Given the description of an element on the screen output the (x, y) to click on. 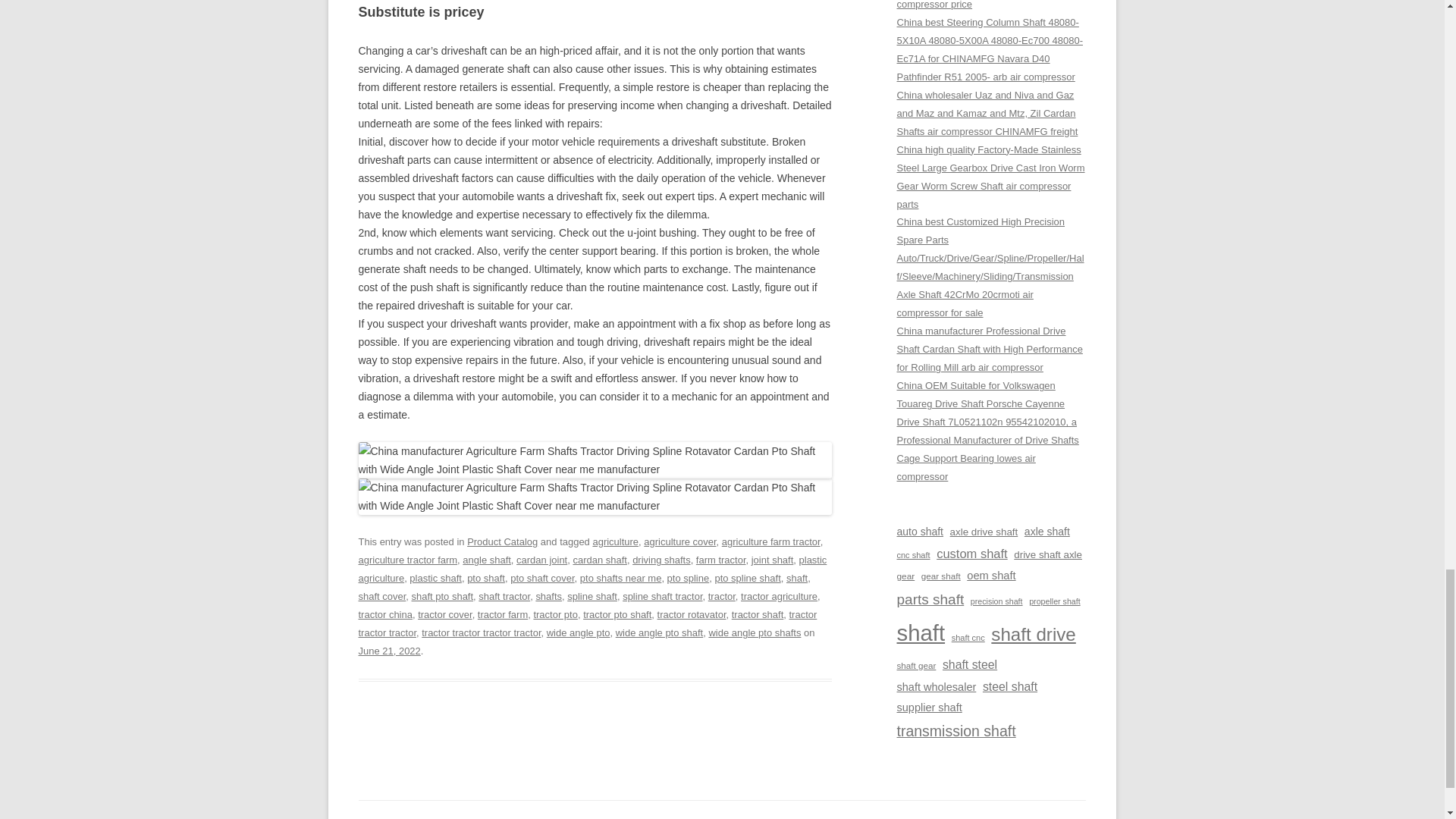
tractor agriculture (778, 595)
agriculture farm tractor (771, 541)
shaft tractor (504, 595)
4:54 am (389, 650)
shaft (797, 577)
tractor farm (502, 614)
tractor (721, 595)
plastic shaft (435, 577)
pto shaft (486, 577)
tractor pto shaft (616, 614)
pto spline shaft (747, 577)
agriculture cover (679, 541)
spline shaft (592, 595)
pto shaft cover (542, 577)
shaft cover (382, 595)
